Given the description of an element on the screen output the (x, y) to click on. 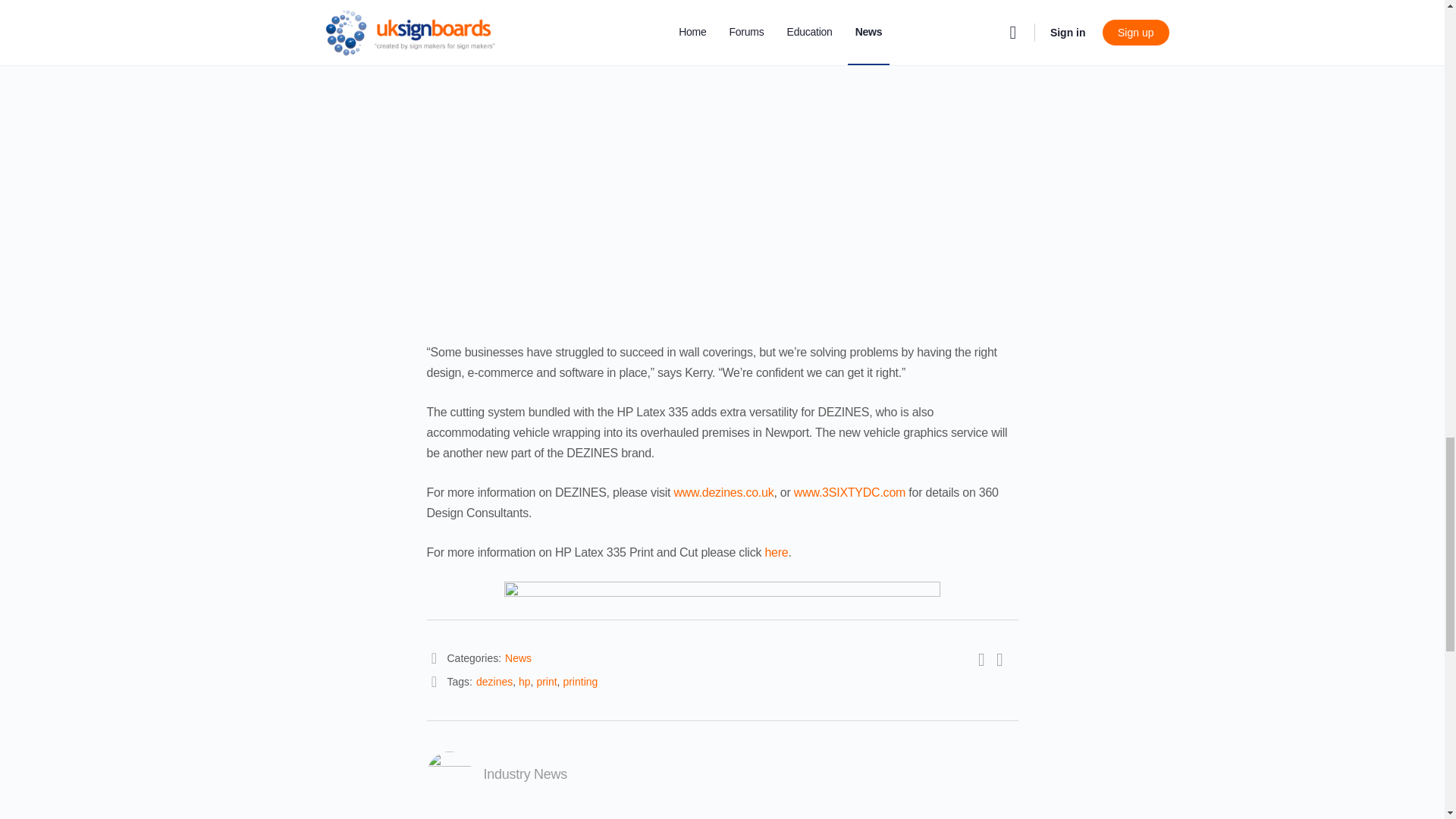
www.dezines.co.uk (722, 492)
print (545, 681)
News (518, 657)
Industry News (525, 774)
hp (524, 681)
dezines (494, 681)
printing (579, 681)
www.3SIXTYDC.com (849, 492)
here (775, 552)
